Given the description of an element on the screen output the (x, y) to click on. 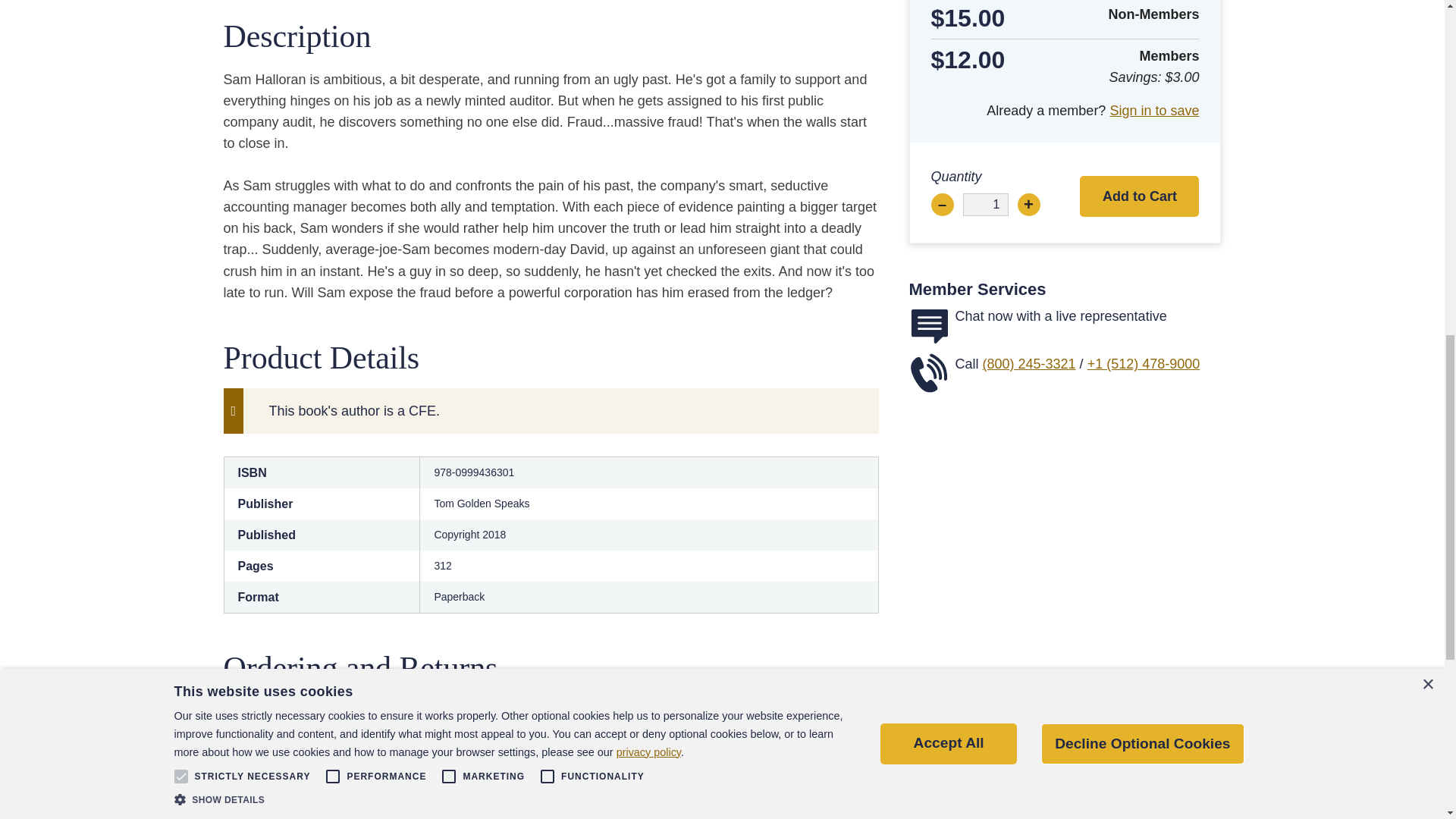
1 (985, 204)
